Given the description of an element on the screen output the (x, y) to click on. 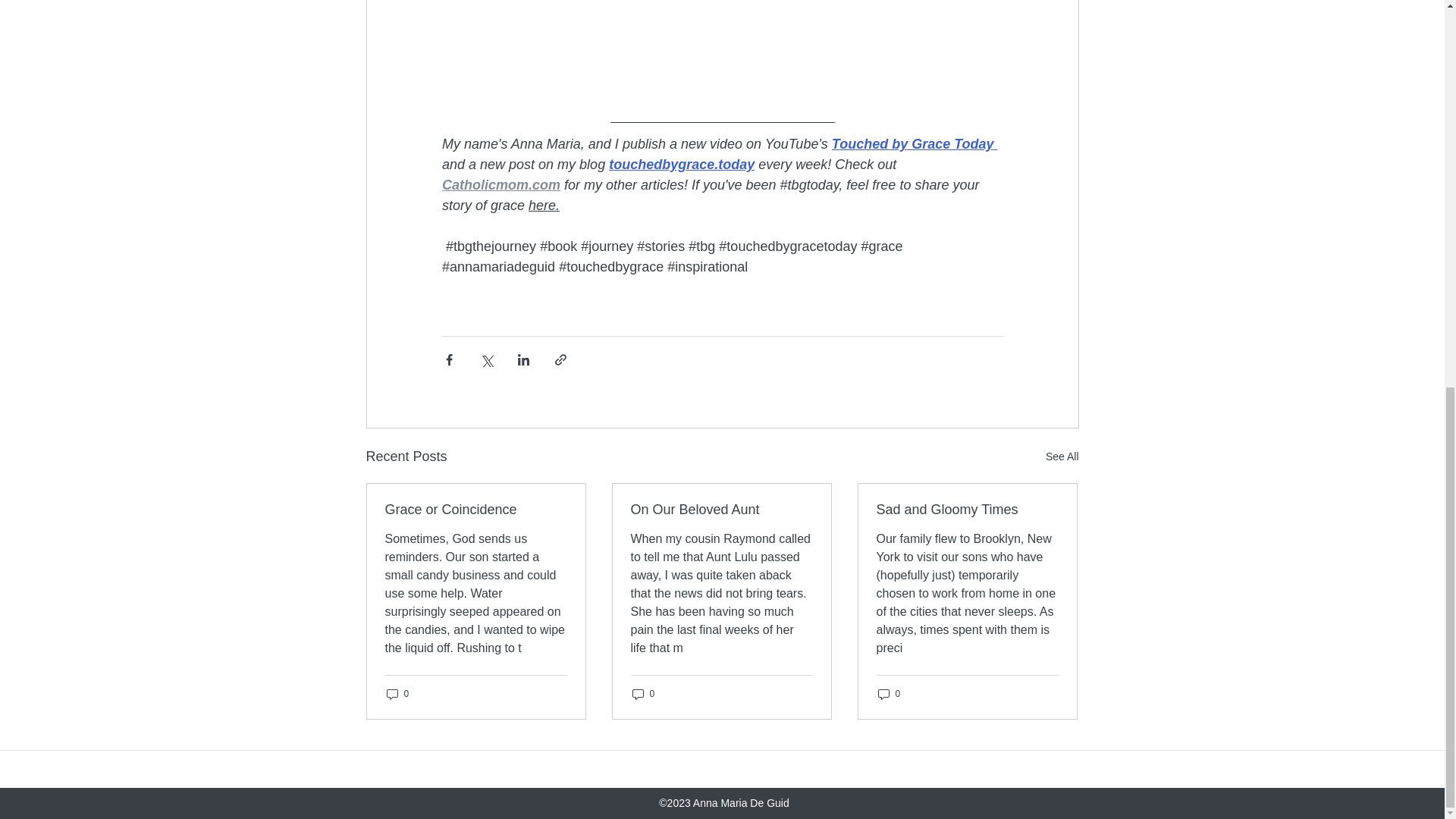
Sad and Gloomy Times (967, 509)
Catholicmom.com (500, 184)
Grace or Coincidence (476, 509)
On Our Beloved Aunt (721, 509)
touchedbygrace.today (681, 164)
0 (397, 694)
Touched by Grace Today (911, 143)
See All (1061, 456)
here (542, 205)
0 (889, 694)
0 (643, 694)
